Given the description of an element on the screen output the (x, y) to click on. 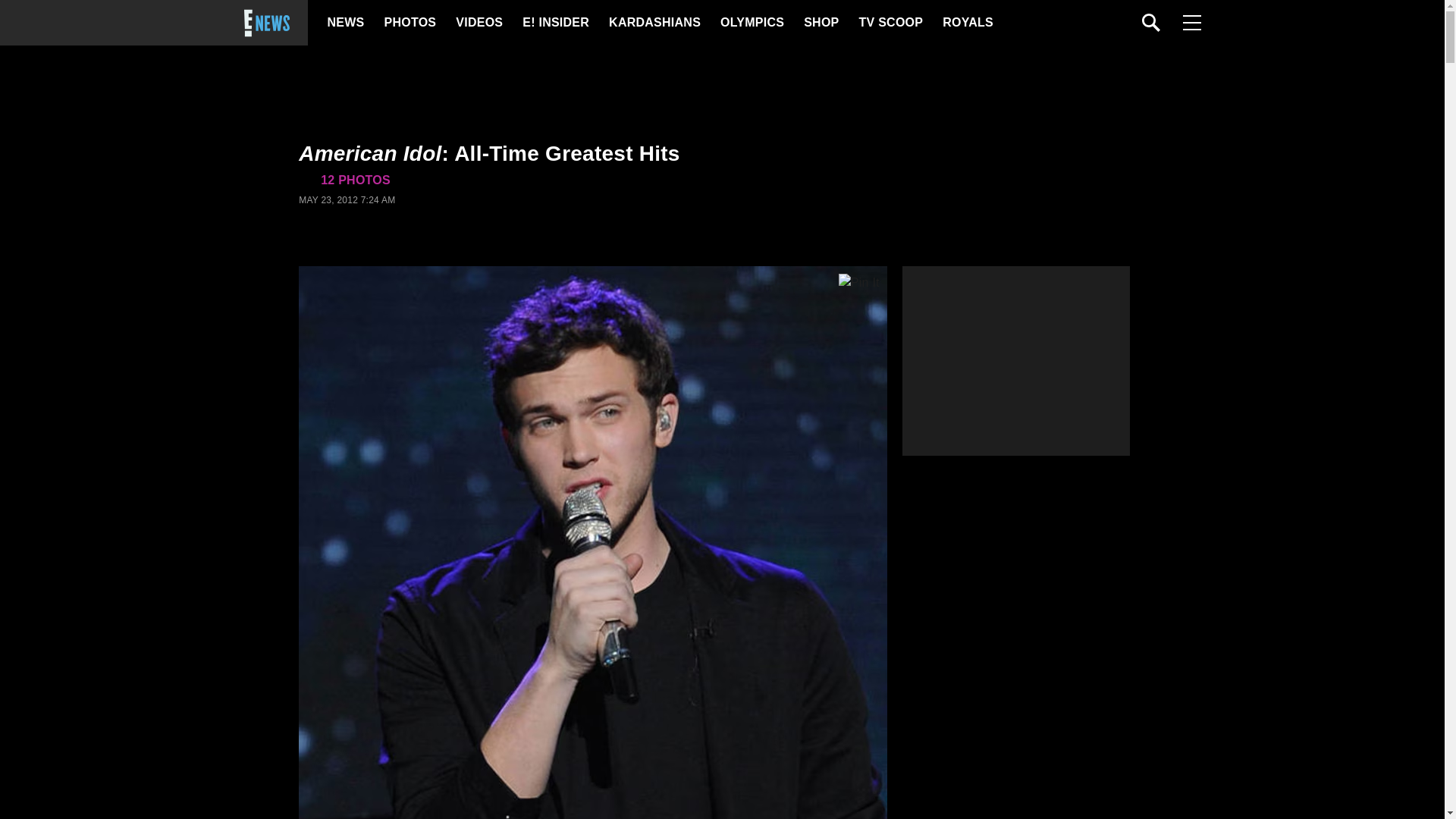
VIDEOS (478, 22)
ROYALS (966, 22)
KARDASHIANS (653, 22)
NEWS (345, 22)
E! INSIDER (555, 22)
PHOTOS (408, 22)
TV SCOOP (890, 22)
SHOP (820, 22)
OLYMPICS (751, 22)
